Given the description of an element on the screen output the (x, y) to click on. 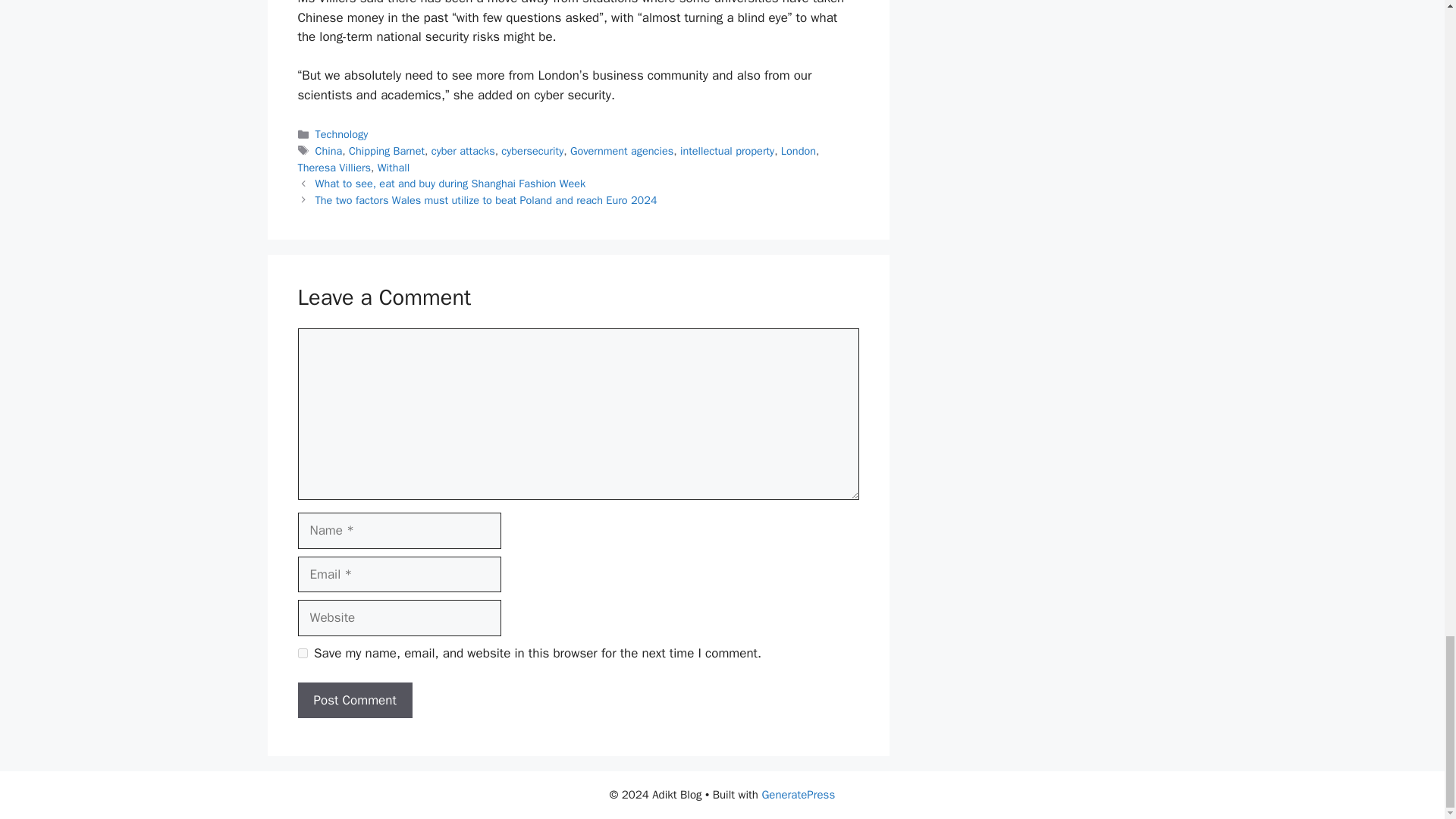
yes (302, 653)
Chipping Barnet (387, 151)
cyber attacks (462, 151)
intellectual property (726, 151)
Technology (341, 133)
Post Comment (354, 700)
cybersecurity (531, 151)
What to see, eat and buy during Shanghai Fashion Week (450, 183)
Theresa Villiers (334, 167)
China (328, 151)
Post Comment (354, 700)
Withall (393, 167)
Government agencies (621, 151)
London (797, 151)
